Given the description of an element on the screen output the (x, y) to click on. 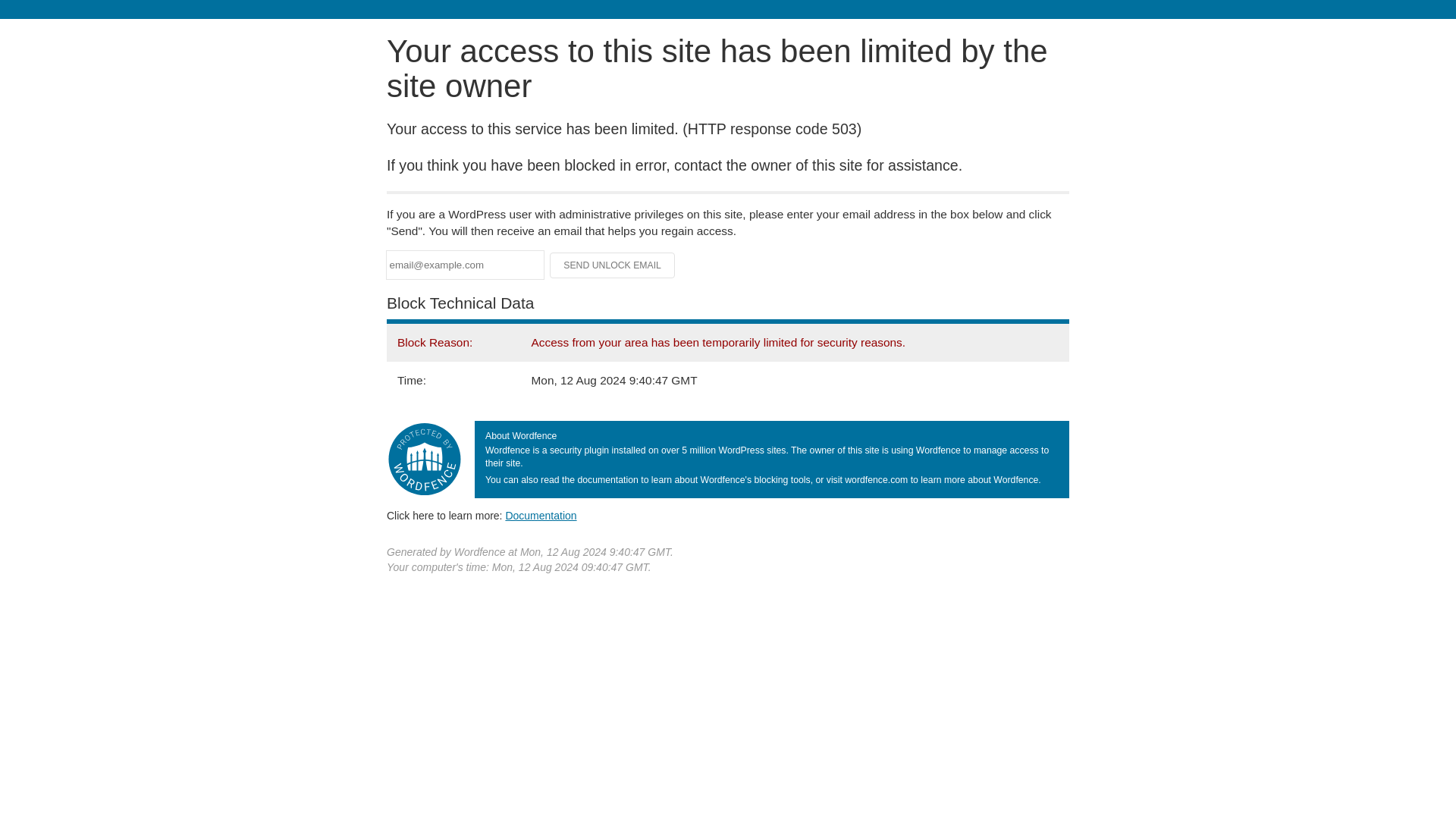
Send Unlock Email (612, 265)
Documentation (540, 515)
Send Unlock Email (612, 265)
